Given the description of an element on the screen output the (x, y) to click on. 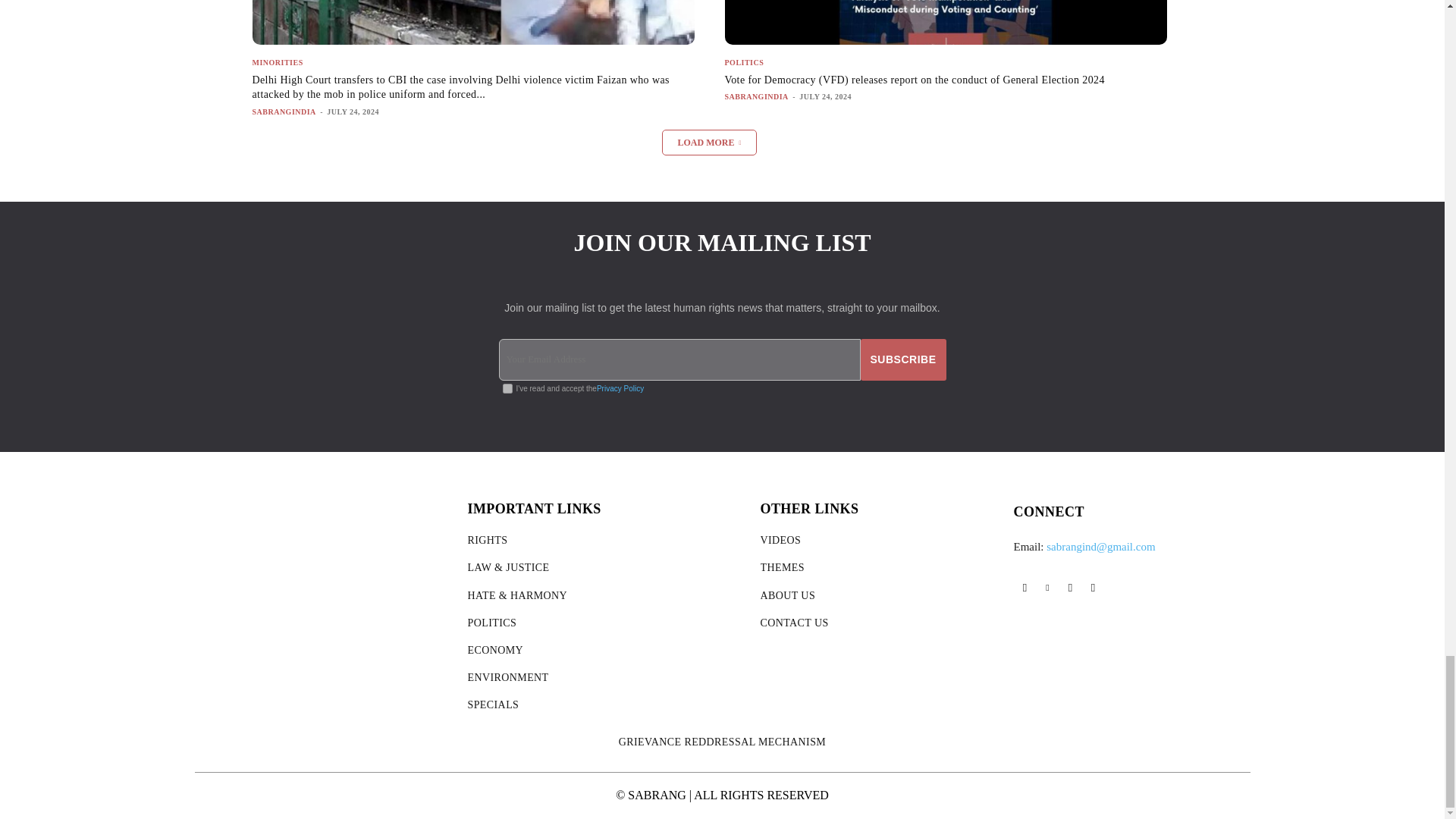
Subscribe (903, 359)
on (507, 388)
